Given the description of an element on the screen output the (x, y) to click on. 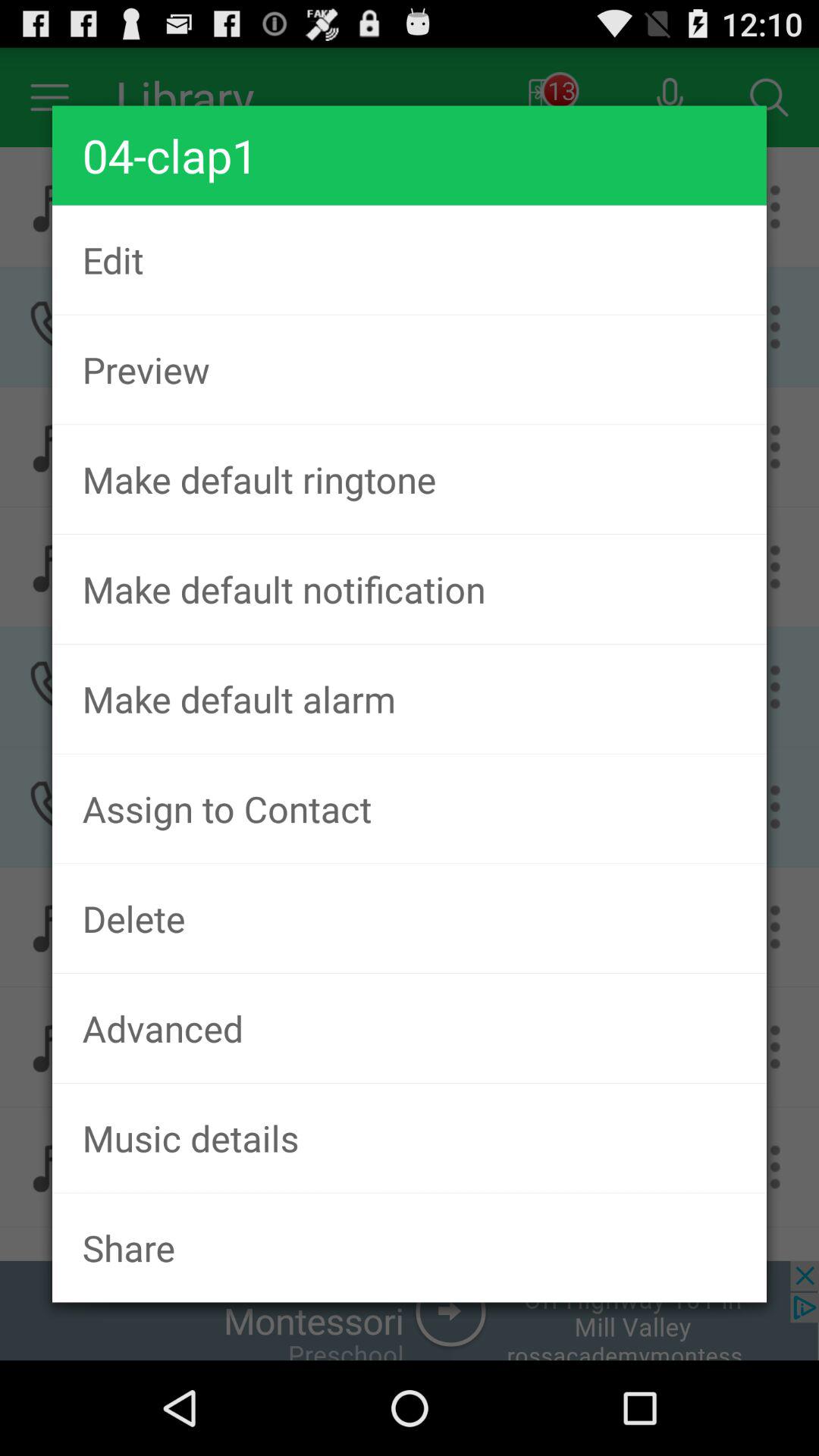
tap the icon below make default alarm (409, 808)
